Given the description of an element on the screen output the (x, y) to click on. 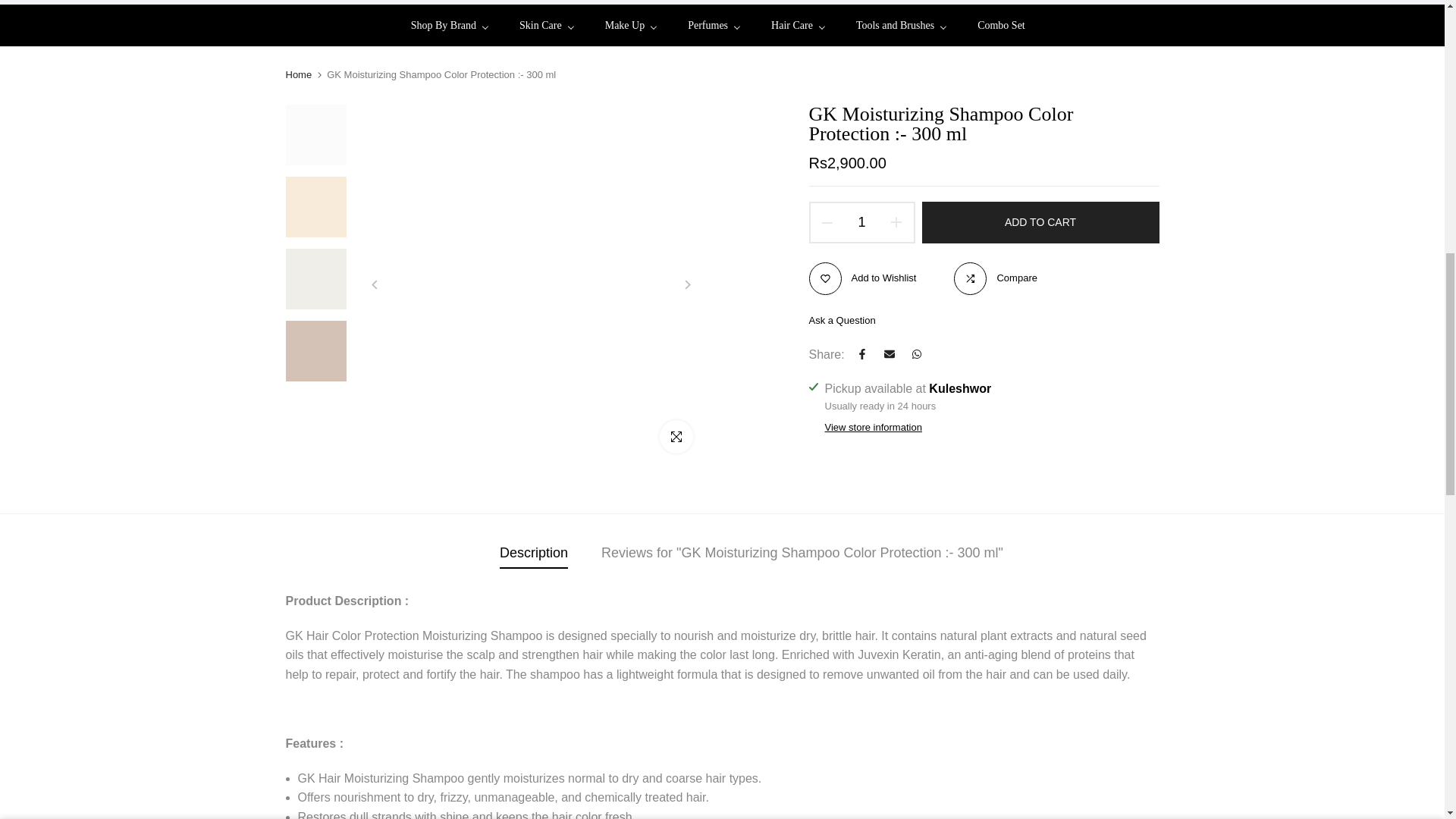
Share on Facebook (861, 354)
Shop By Brand (456, 25)
Share on WhatsApp (917, 354)
Share on Email (889, 354)
1 (866, 35)
